Given the description of an element on the screen output the (x, y) to click on. 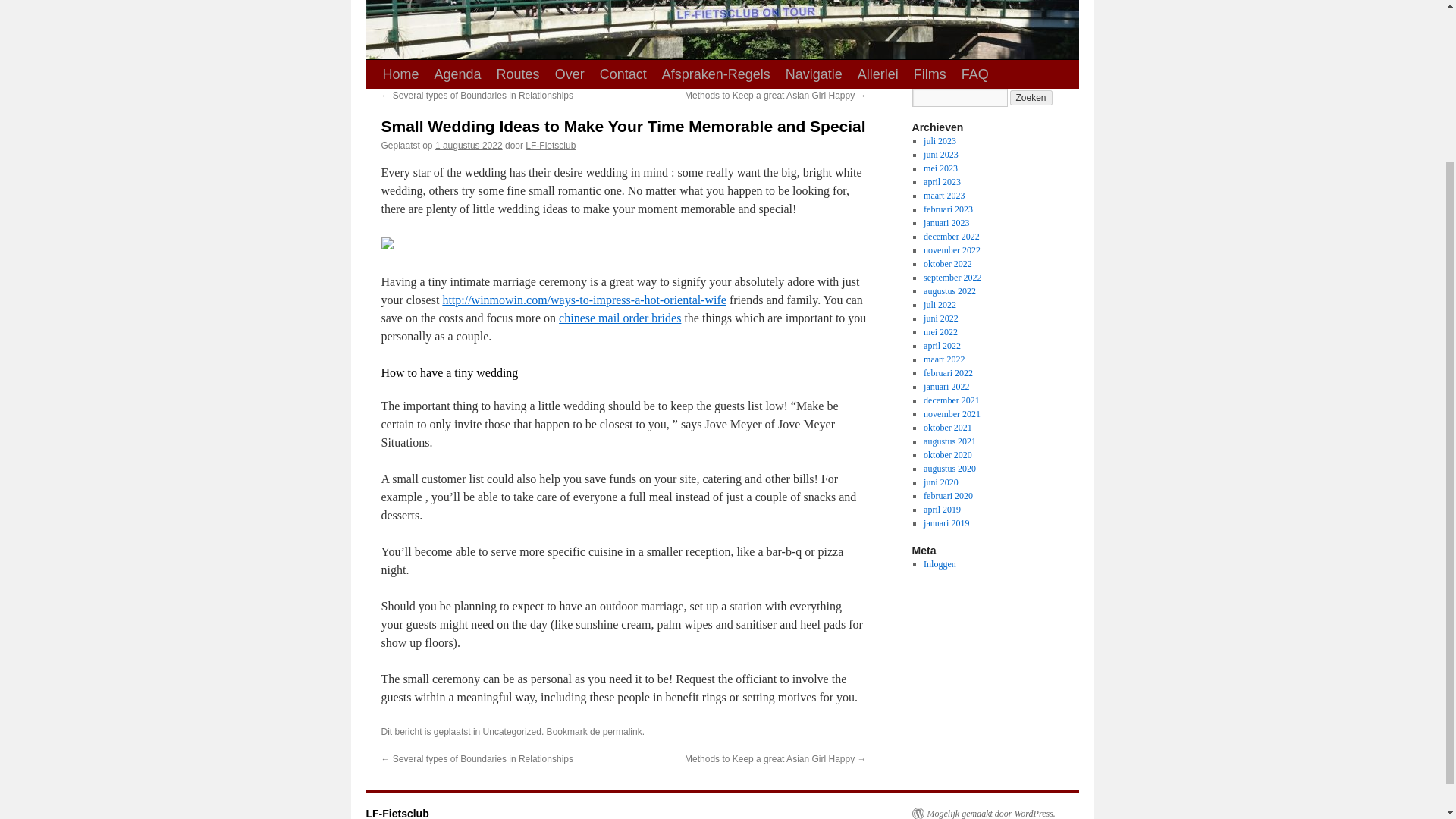
Contact (622, 73)
juni 2022 (940, 317)
augustus 2022 (949, 290)
chinese mail order brides (620, 318)
april 2023 (941, 181)
Navigatie (813, 73)
september 2022 (952, 276)
februari 2023 (947, 208)
00:00 (468, 145)
december 2022 (951, 235)
Zoeken (1031, 97)
mei 2023 (940, 167)
juli 2022 (939, 304)
Over (569, 73)
maart 2023 (943, 195)
